Given the description of an element on the screen output the (x, y) to click on. 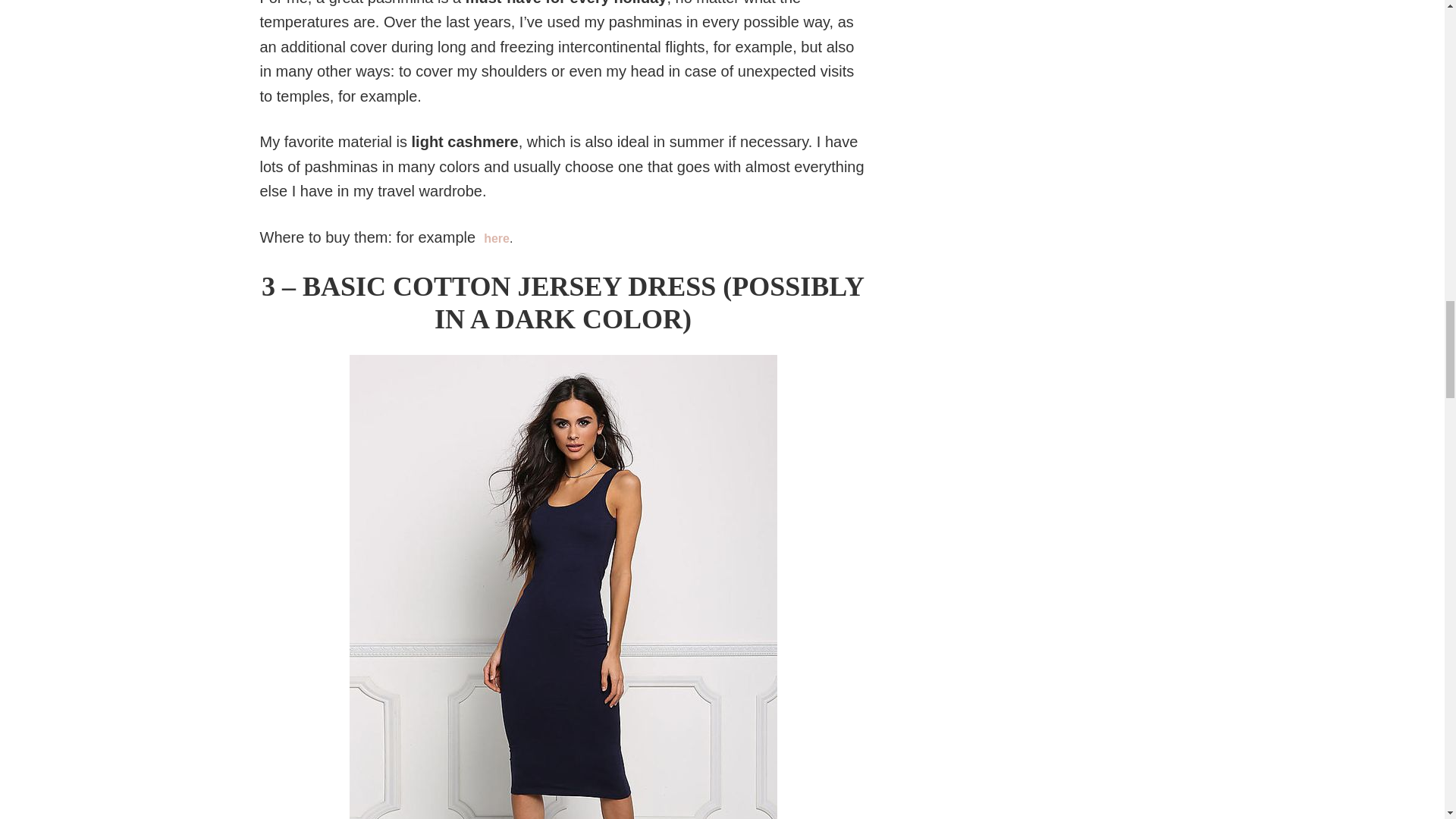
here (496, 237)
